Given the description of an element on the screen output the (x, y) to click on. 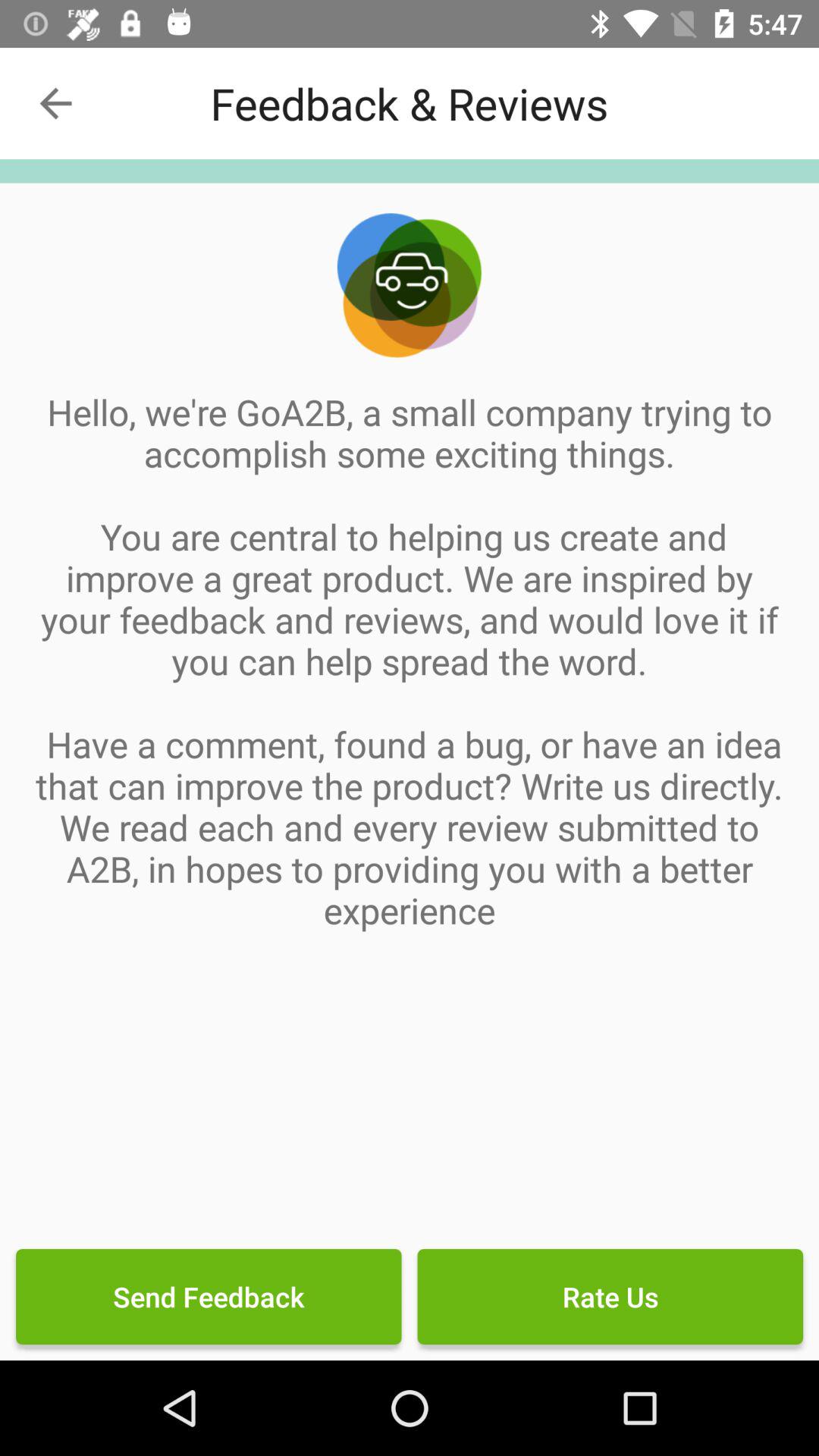
select the icon at the bottom left corner (208, 1296)
